Given the description of an element on the screen output the (x, y) to click on. 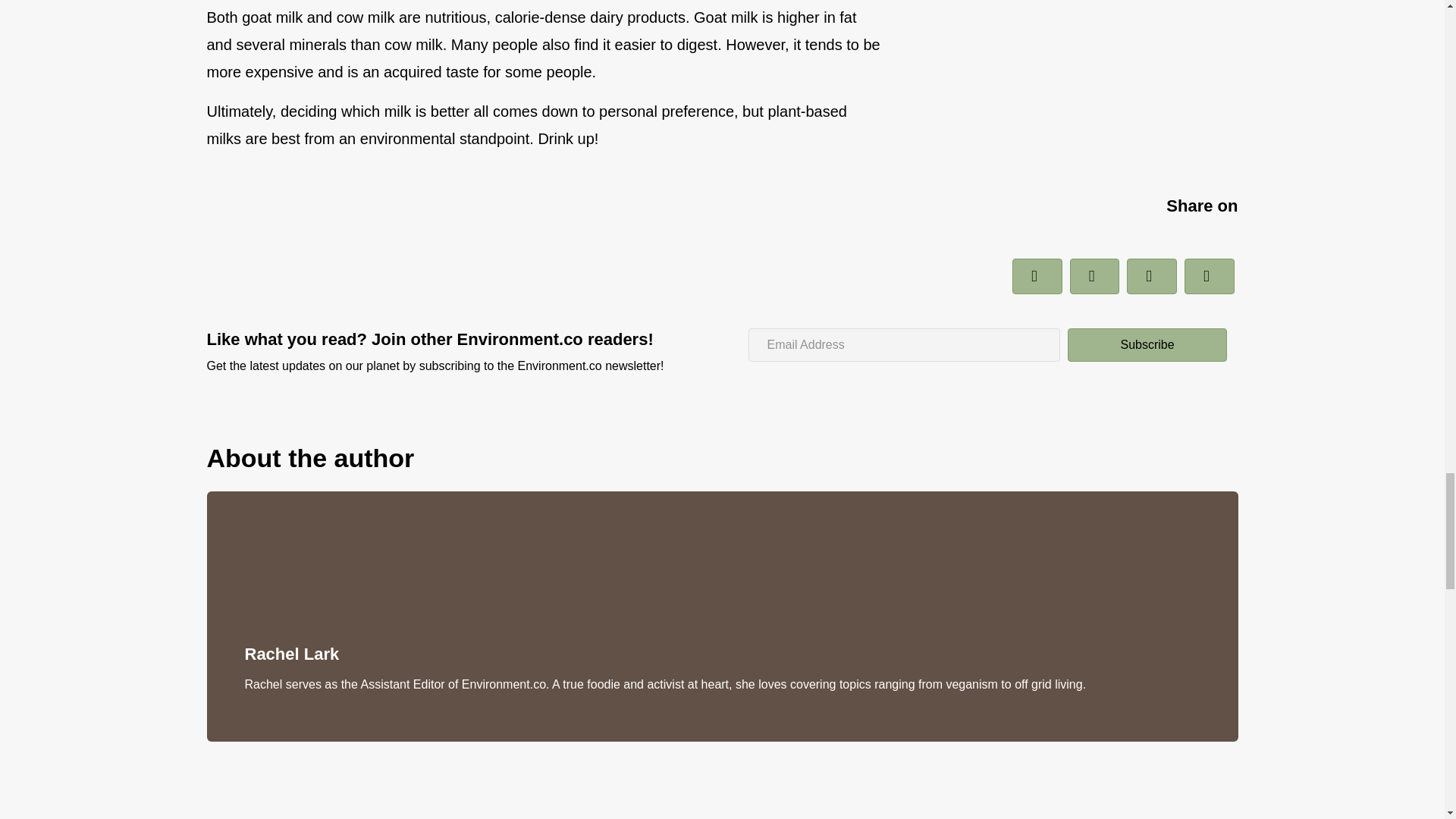
Subscribe (1147, 344)
